Given the description of an element on the screen output the (x, y) to click on. 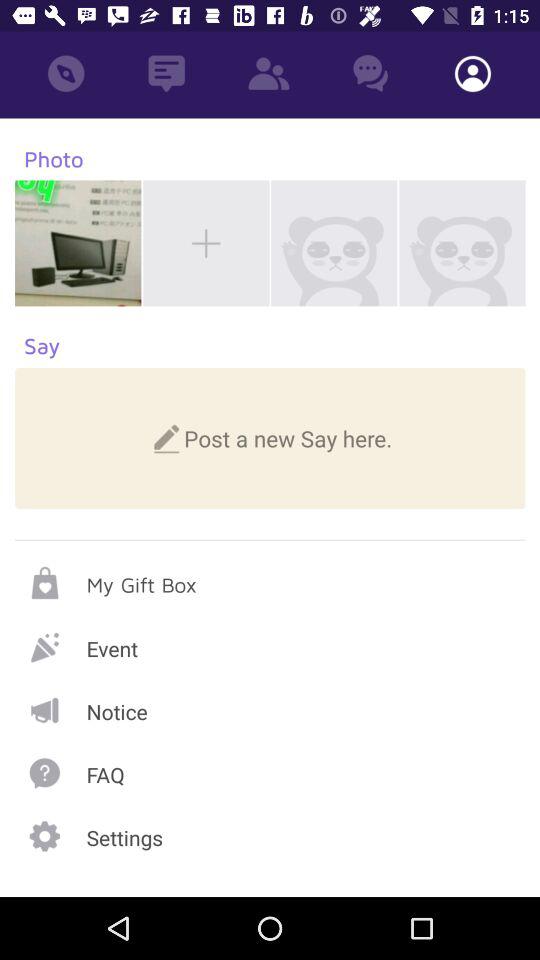
go to my gift box page (270, 582)
